Given the description of an element on the screen output the (x, y) to click on. 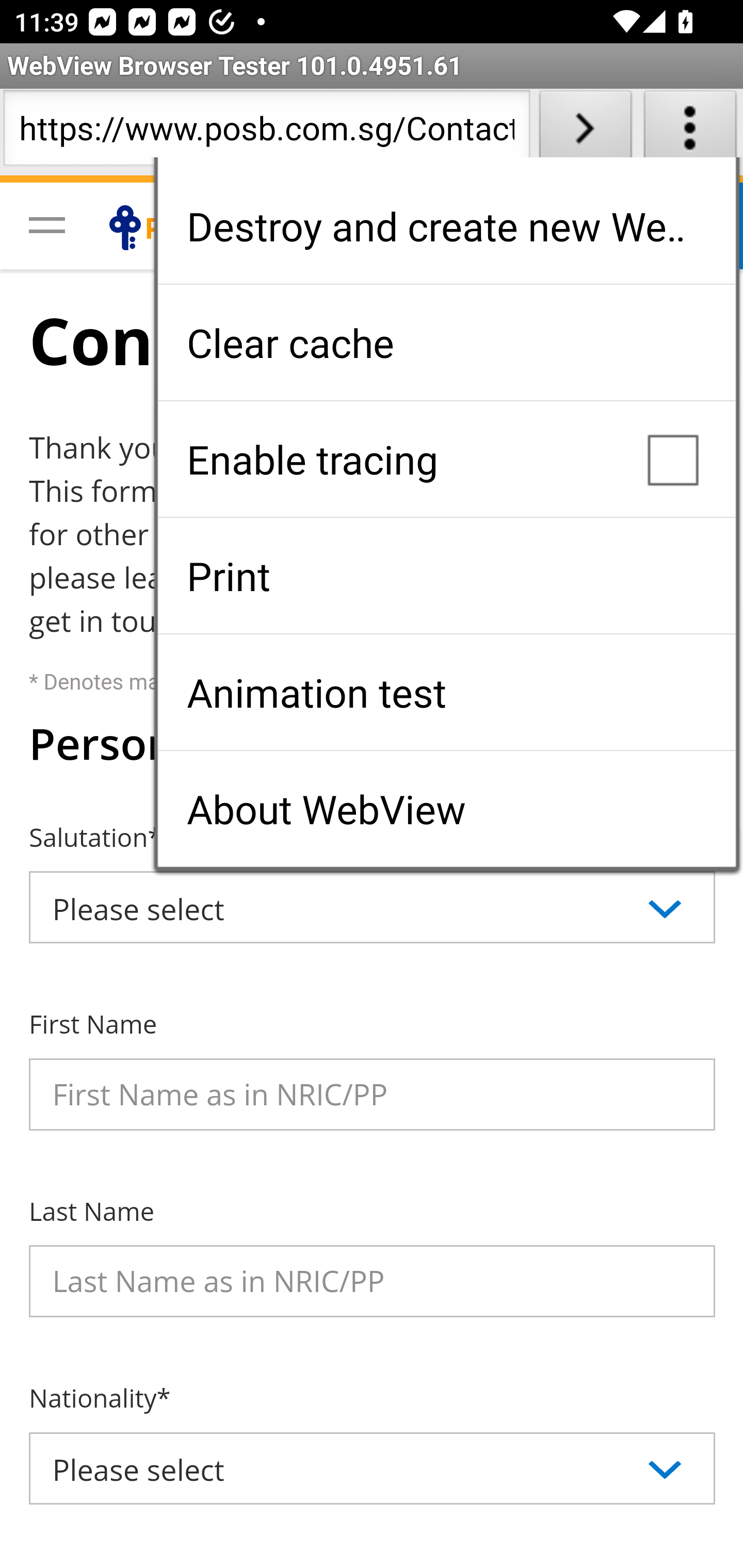
Destroy and create new WebView (446, 225)
Clear cache (446, 342)
Enable tracing (446, 459)
Print (446, 575)
Animation test (446, 692)
About WebView (446, 809)
